Given the description of an element on the screen output the (x, y) to click on. 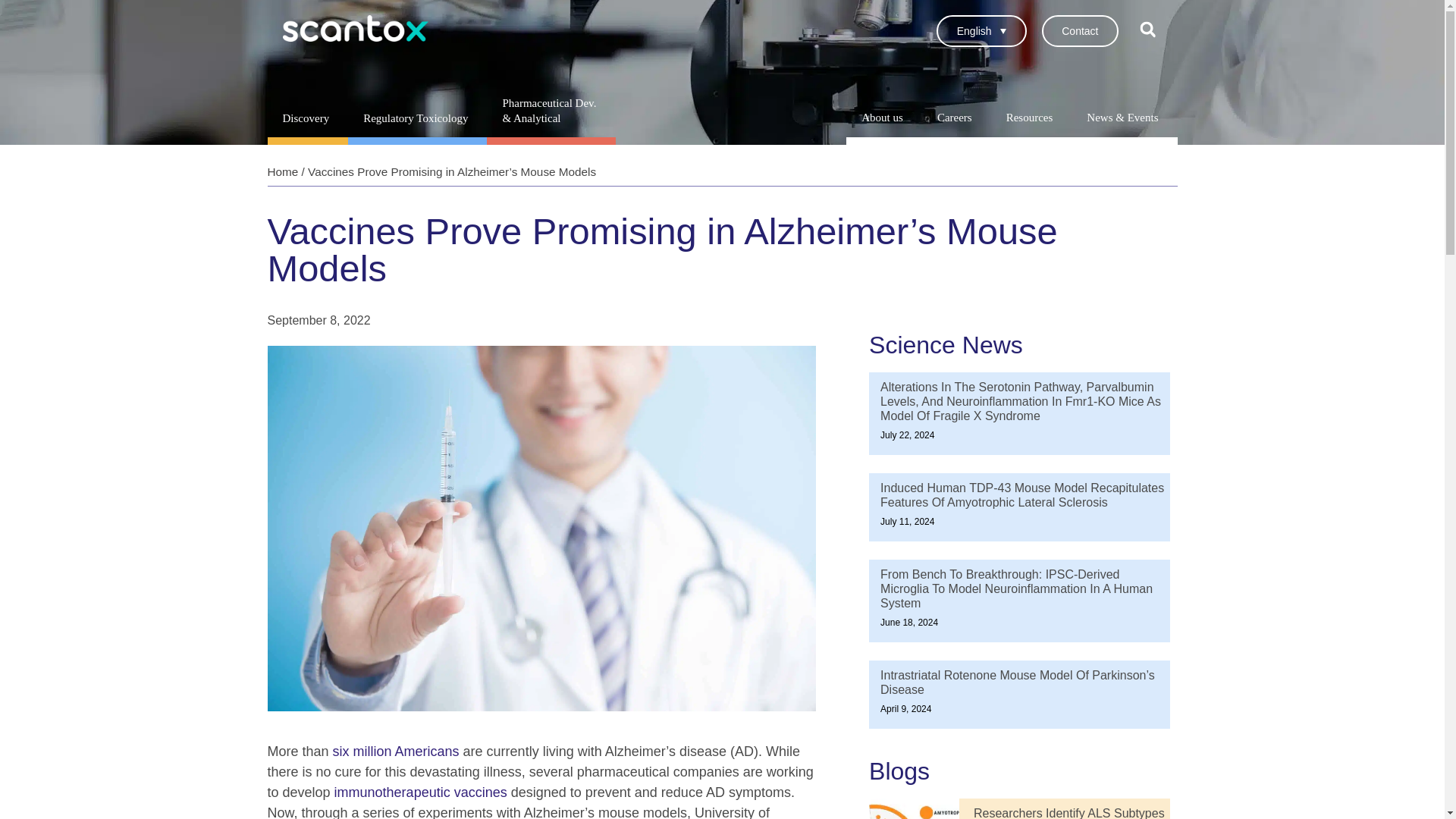
Contact (1080, 30)
Discovery (306, 118)
English (981, 30)
